Given the description of an element on the screen output the (x, y) to click on. 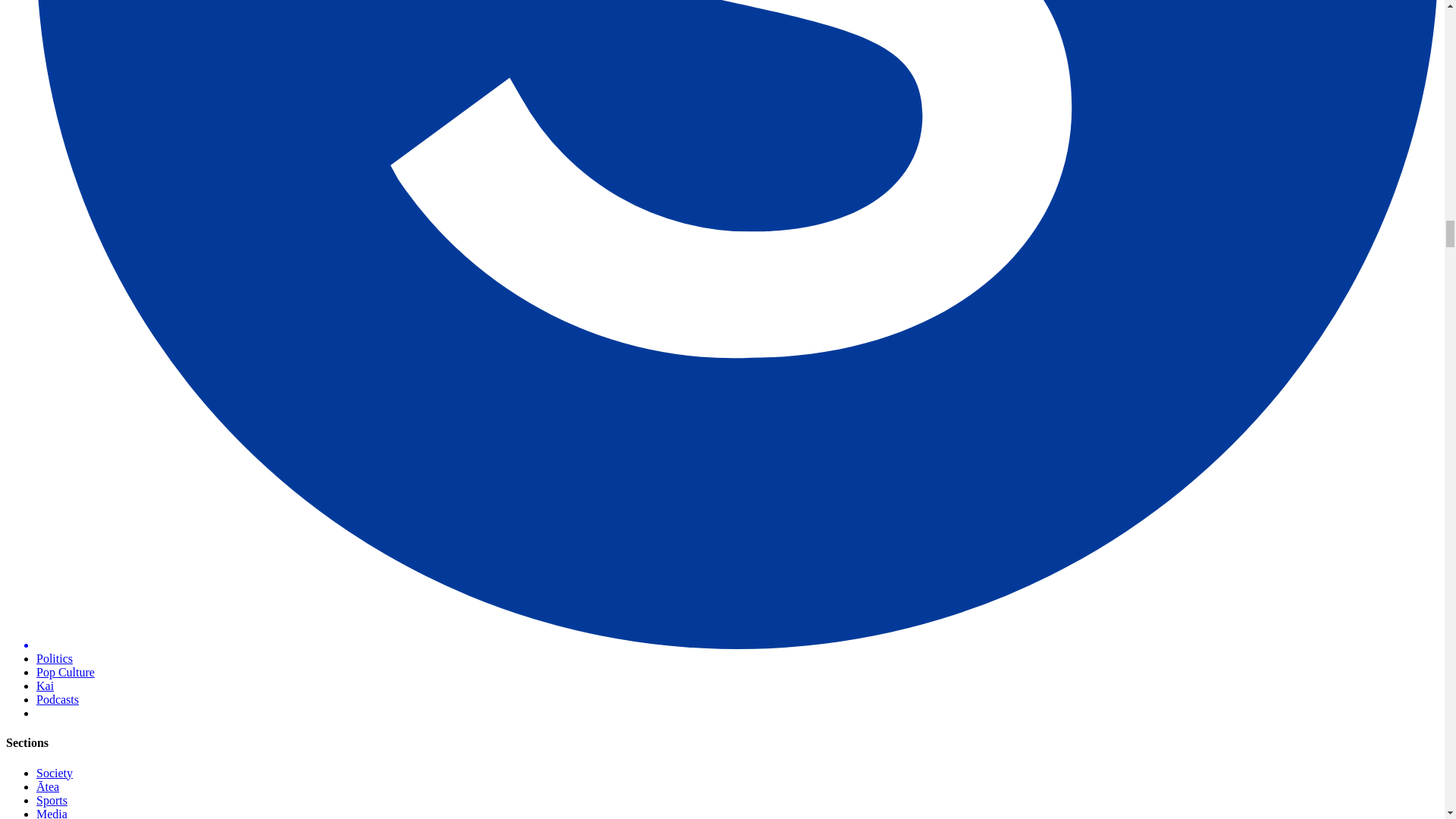
Podcasts (57, 698)
Media (51, 813)
Kai (44, 685)
Sports (51, 799)
Society (54, 772)
Pop Culture (65, 671)
Politics (54, 658)
